Given the description of an element on the screen output the (x, y) to click on. 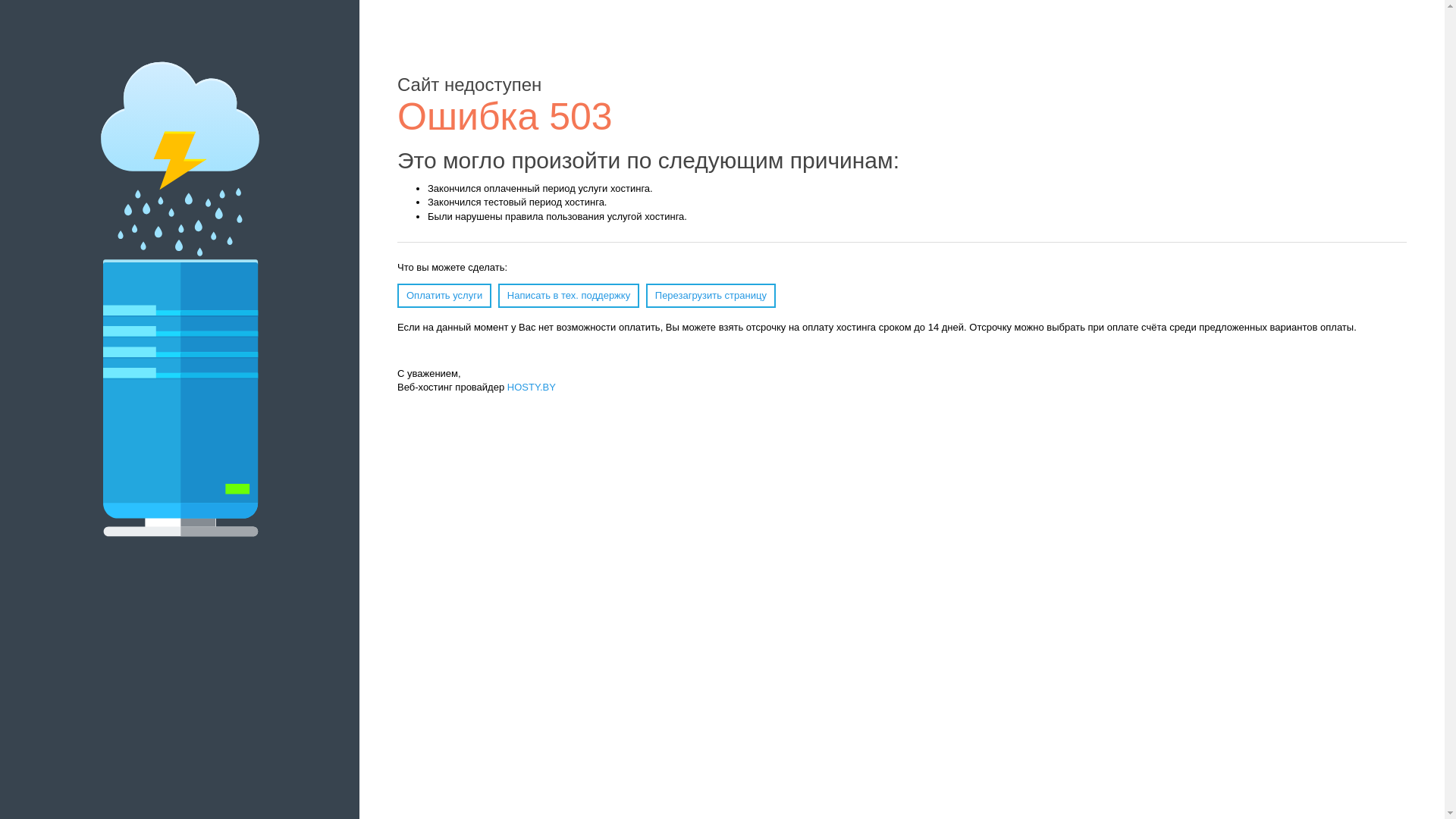
HOSTY.BY Element type: text (531, 386)
